Given the description of an element on the screen output the (x, y) to click on. 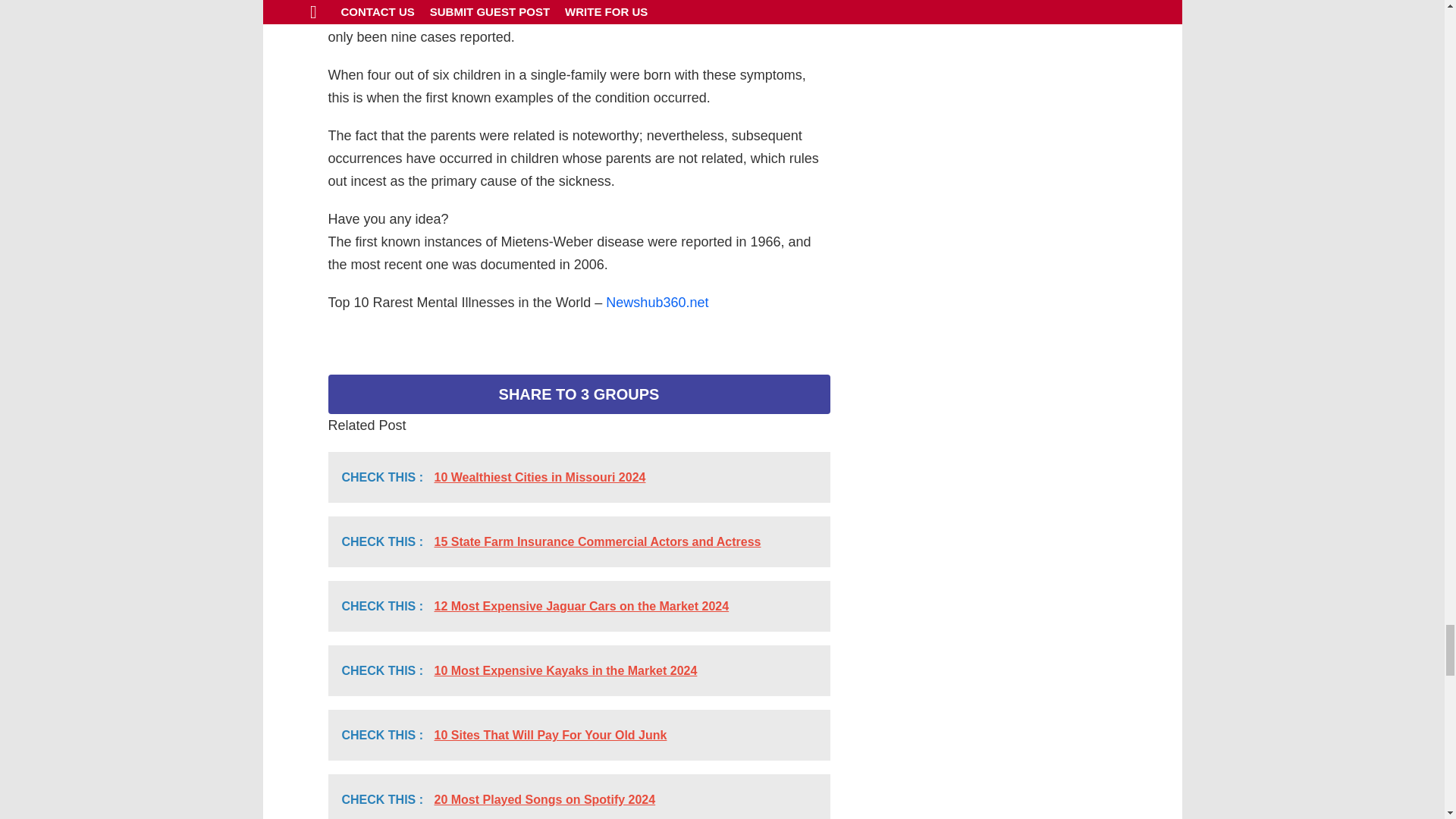
CHECK THIS :   10 Most Expensive Kayaks in the Market 2024 (578, 670)
CHECK THIS :   20 Most Played Songs on Spotify 2024 (578, 796)
CHECK THIS :   10 Sites That Will Pay For Your Old Junk (578, 735)
SHARE TO 3 GROUPS (578, 394)
CHECK THIS :   10 Wealthiest Cities in Missouri 2024 (578, 477)
Newshub360.net (656, 302)
